Given the description of an element on the screen output the (x, y) to click on. 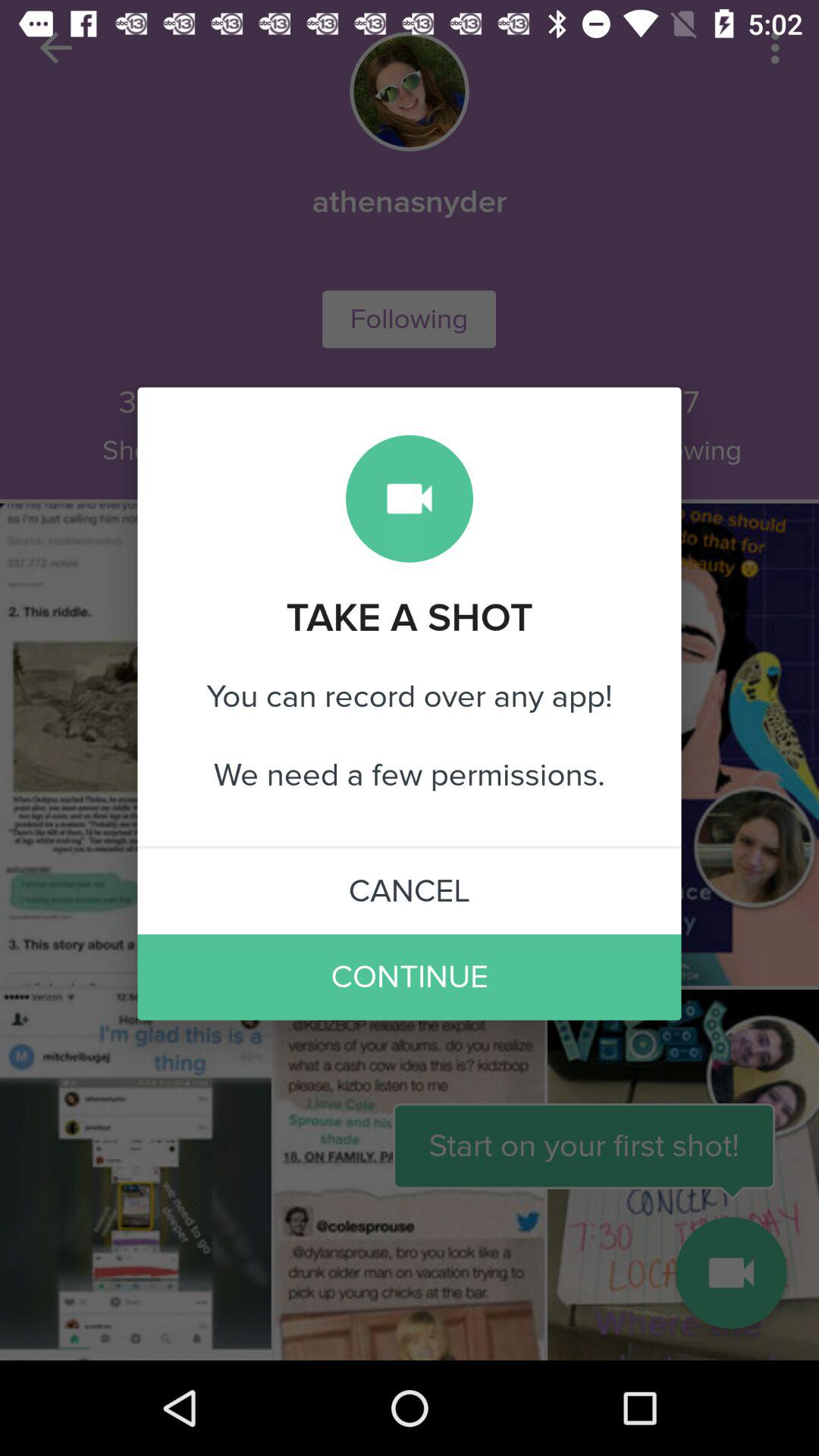
press the cancel item (409, 891)
